Given the description of an element on the screen output the (x, y) to click on. 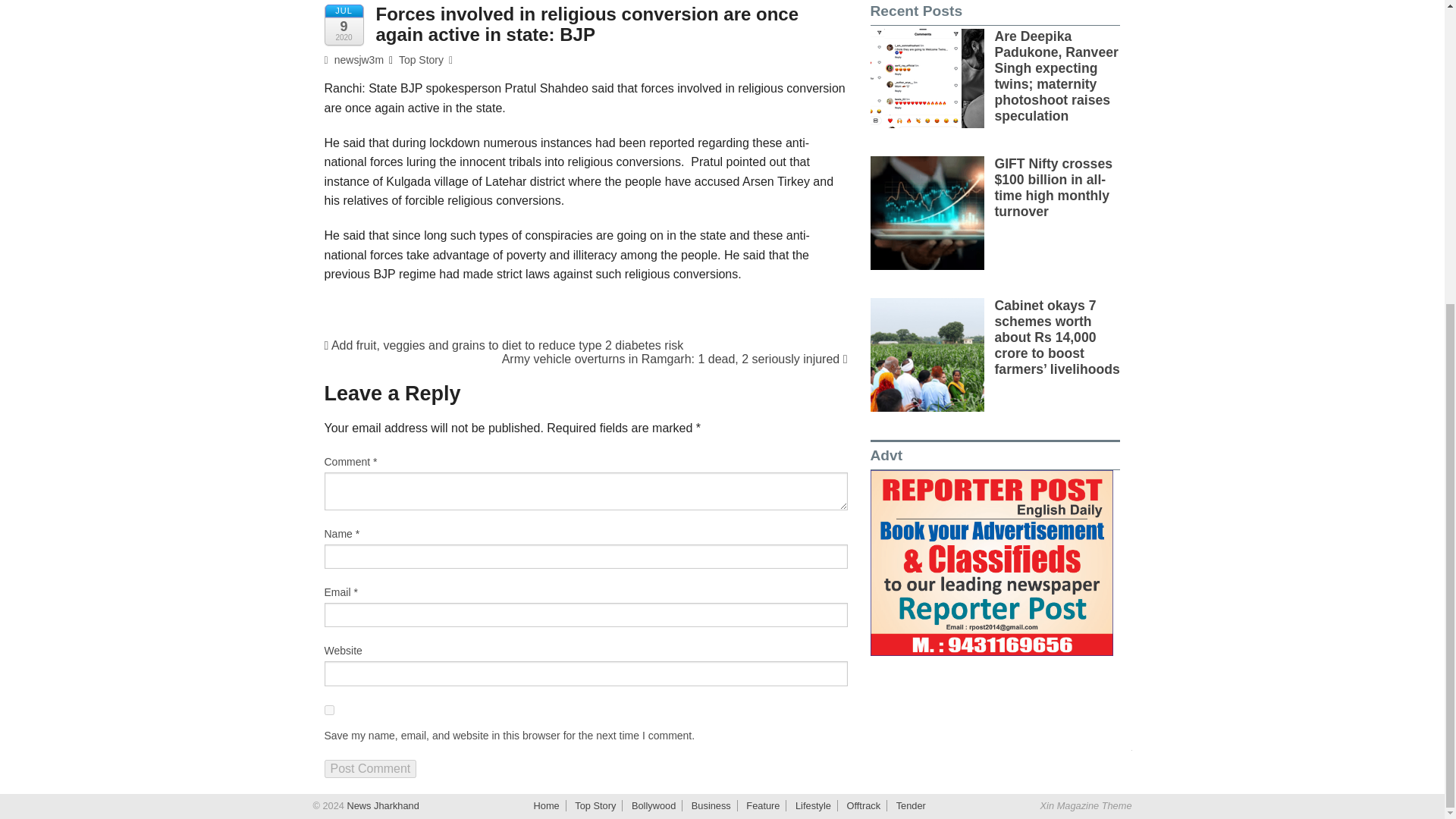
Top Story (595, 805)
yes (329, 709)
Post Comment (370, 769)
View all posts by newsjw3m (354, 60)
Business (710, 805)
Top Story (421, 60)
newsjw3m (354, 60)
